Given the description of an element on the screen output the (x, y) to click on. 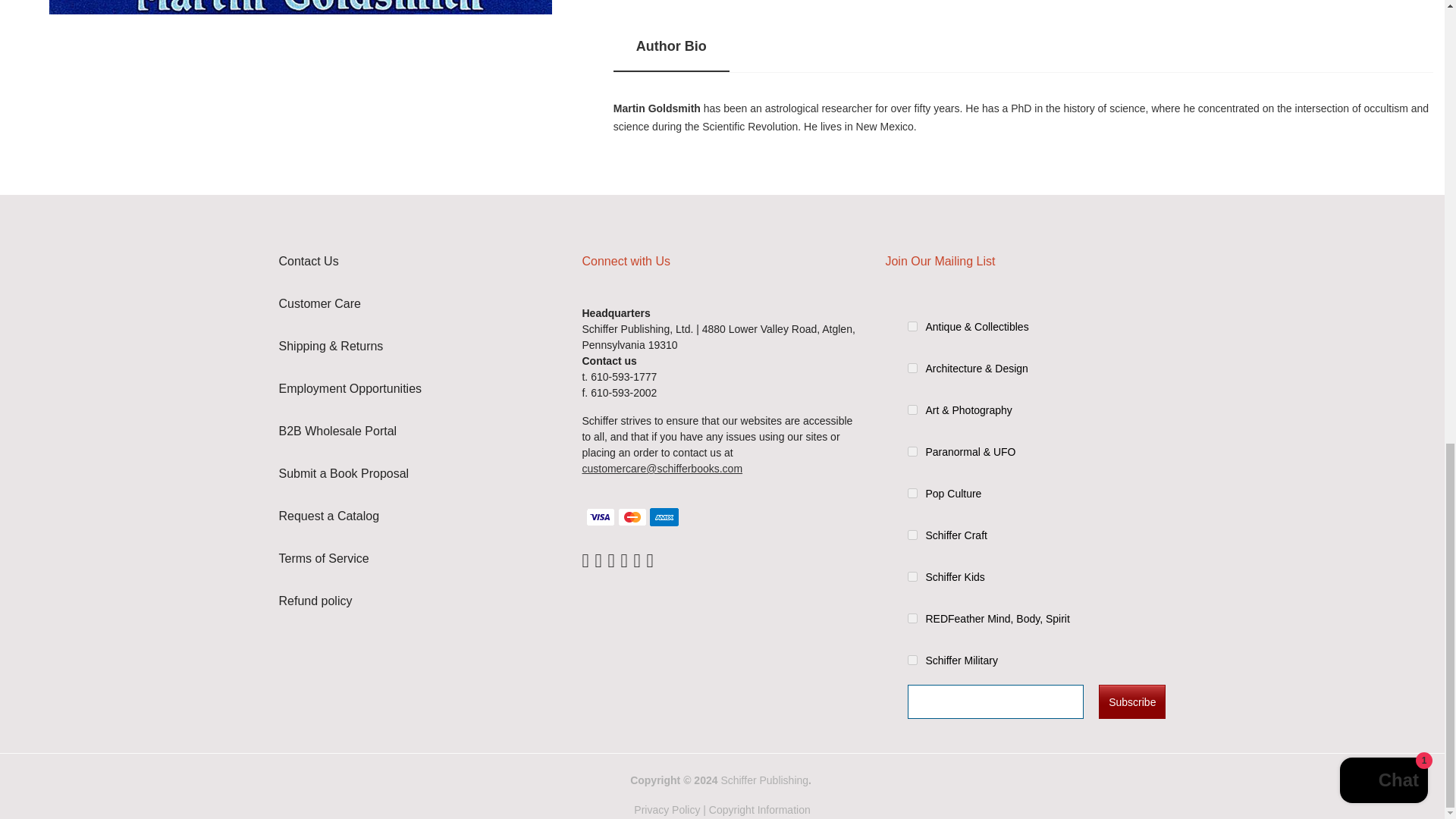
yes (912, 326)
yes (912, 451)
yes (912, 409)
Twitter (597, 561)
TRADEMARKS, COPYRIGHTS, AND RESTRICTIONS (759, 809)
yes (912, 659)
yes (912, 492)
Instagram (610, 561)
Tumblr (636, 561)
Subscribe (1132, 701)
yes (912, 576)
yes (912, 534)
Facebook (584, 561)
Pinterest (649, 561)
Privacy Policy (666, 809)
